Given the description of an element on the screen output the (x, y) to click on. 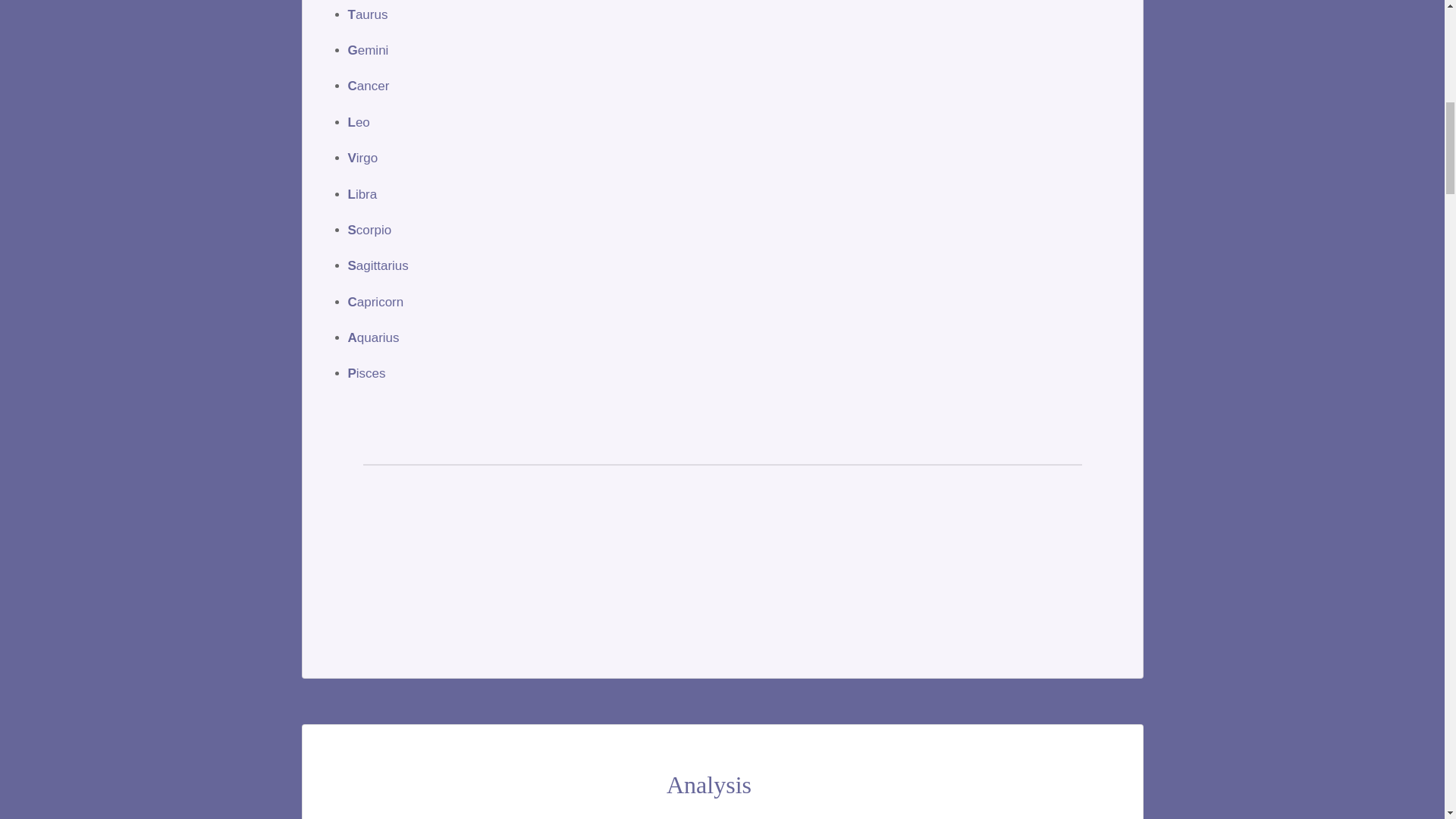
Libra (362, 194)
Virgo (362, 157)
Cancer (367, 85)
Scorpio (369, 229)
Capricorn (375, 301)
Sagittarius (377, 265)
Taurus (367, 14)
Leo (358, 122)
Pisces (366, 373)
Gemini (367, 50)
Aquarius (372, 337)
